Given the description of an element on the screen output the (x, y) to click on. 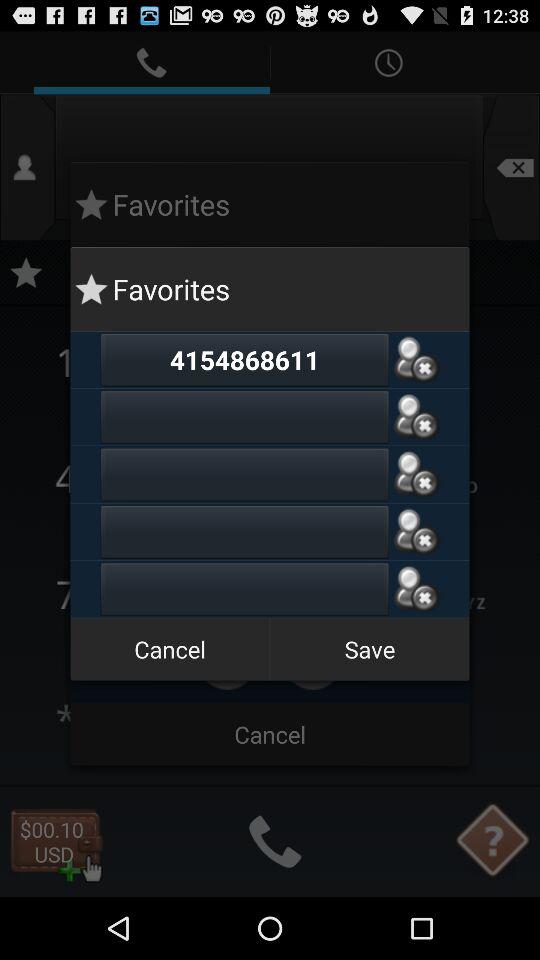
delete favorite (416, 589)
